Given the description of an element on the screen output the (x, y) to click on. 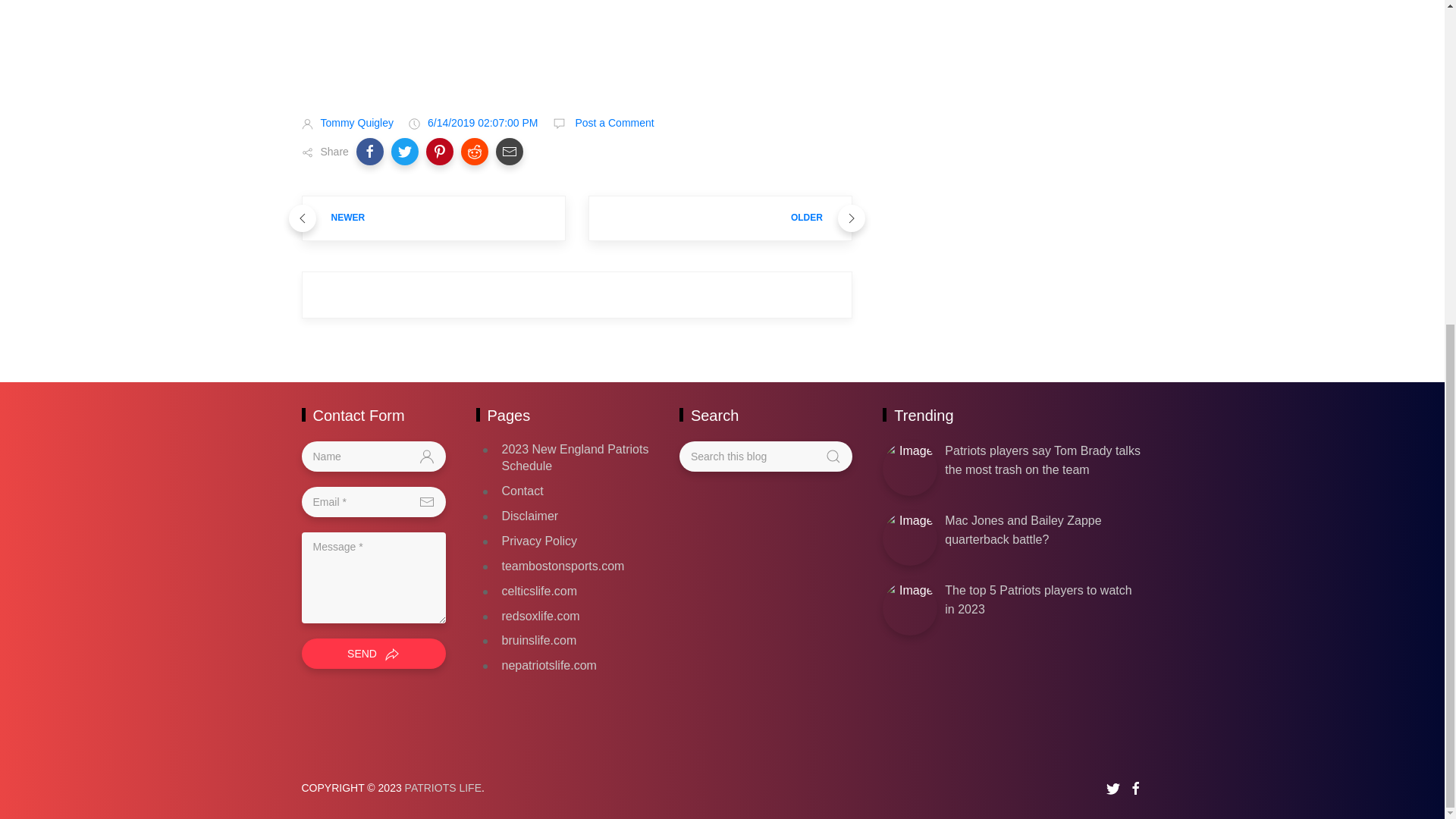
author profile (356, 122)
Tommy Quigley (356, 122)
Post a Comment (612, 122)
permanent link (483, 122)
Advertisement (576, 45)
OLDER (719, 217)
NEWER (433, 217)
